Given the description of an element on the screen output the (x, y) to click on. 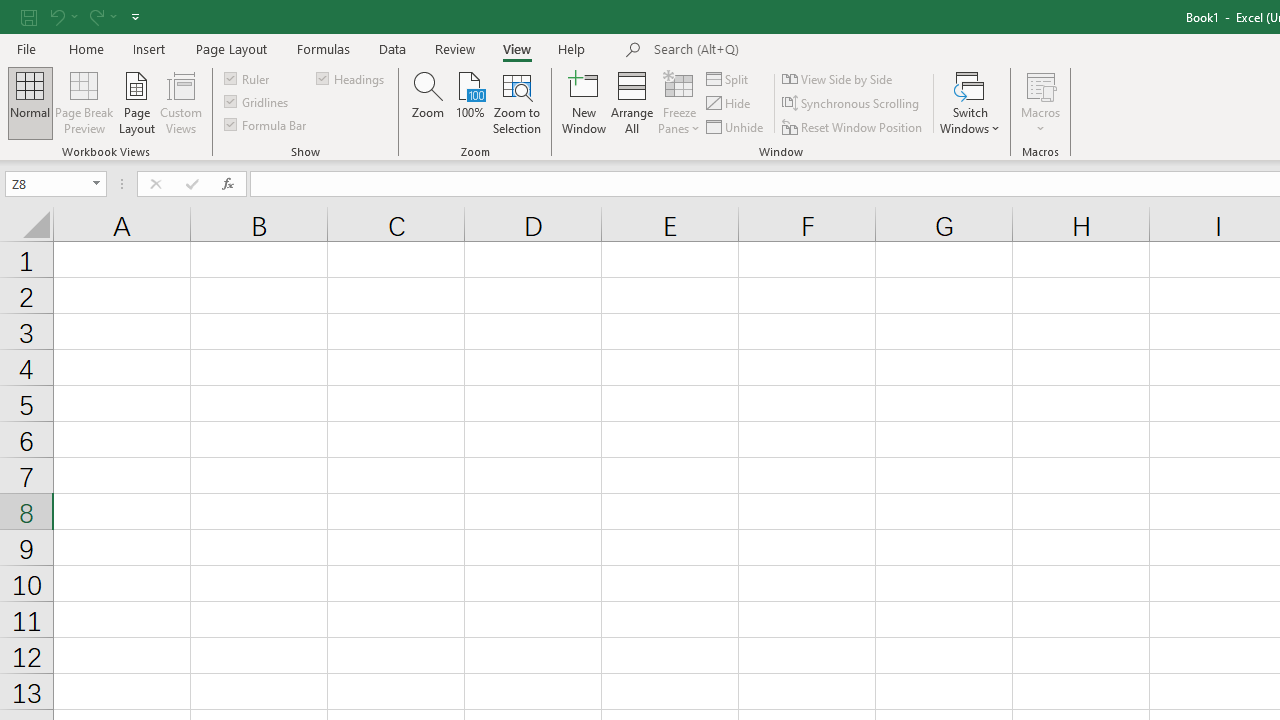
Zoom... (428, 102)
